Given the description of an element on the screen output the (x, y) to click on. 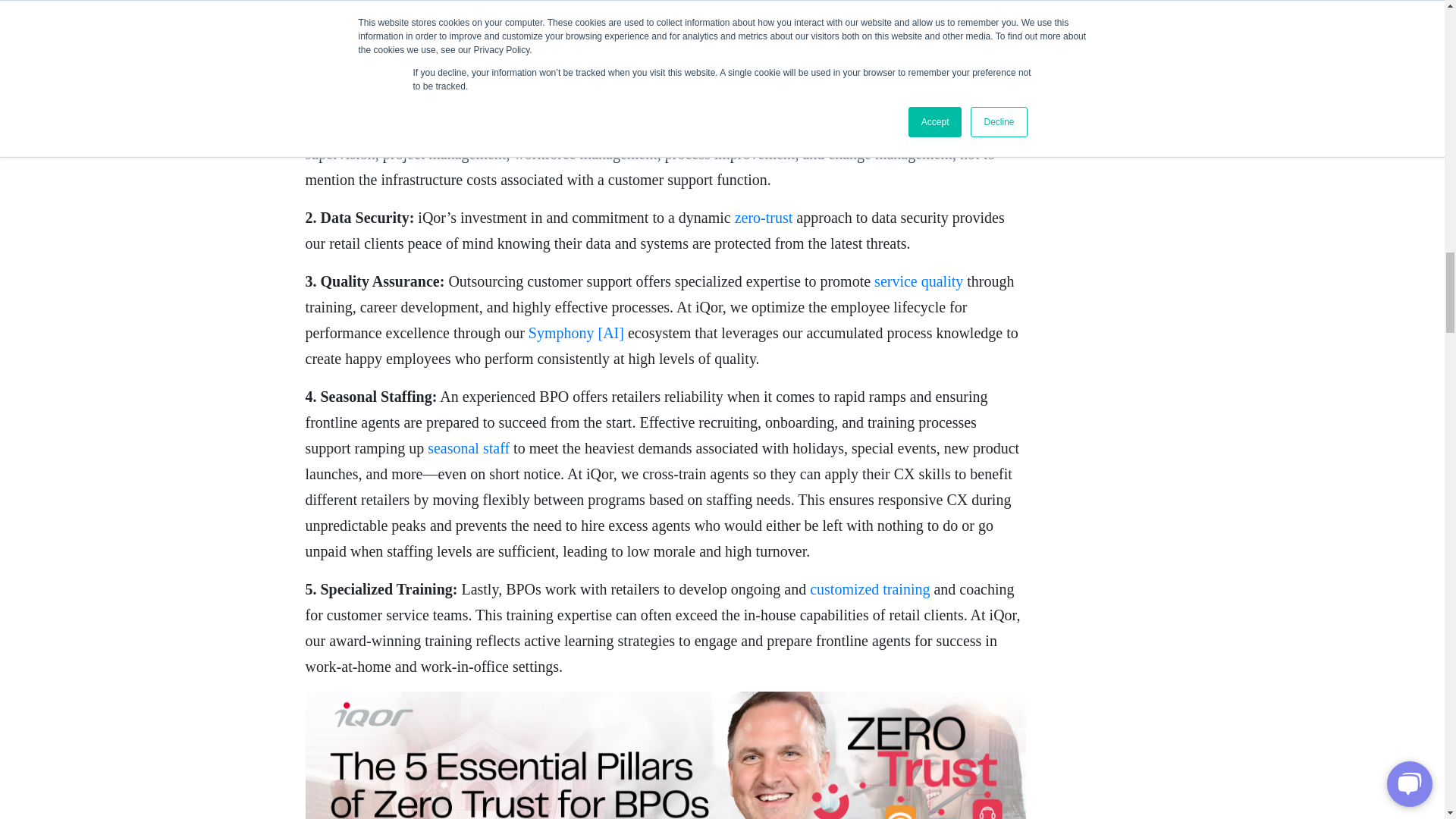
Embedded CTA (664, 755)
